Given the description of an element on the screen output the (x, y) to click on. 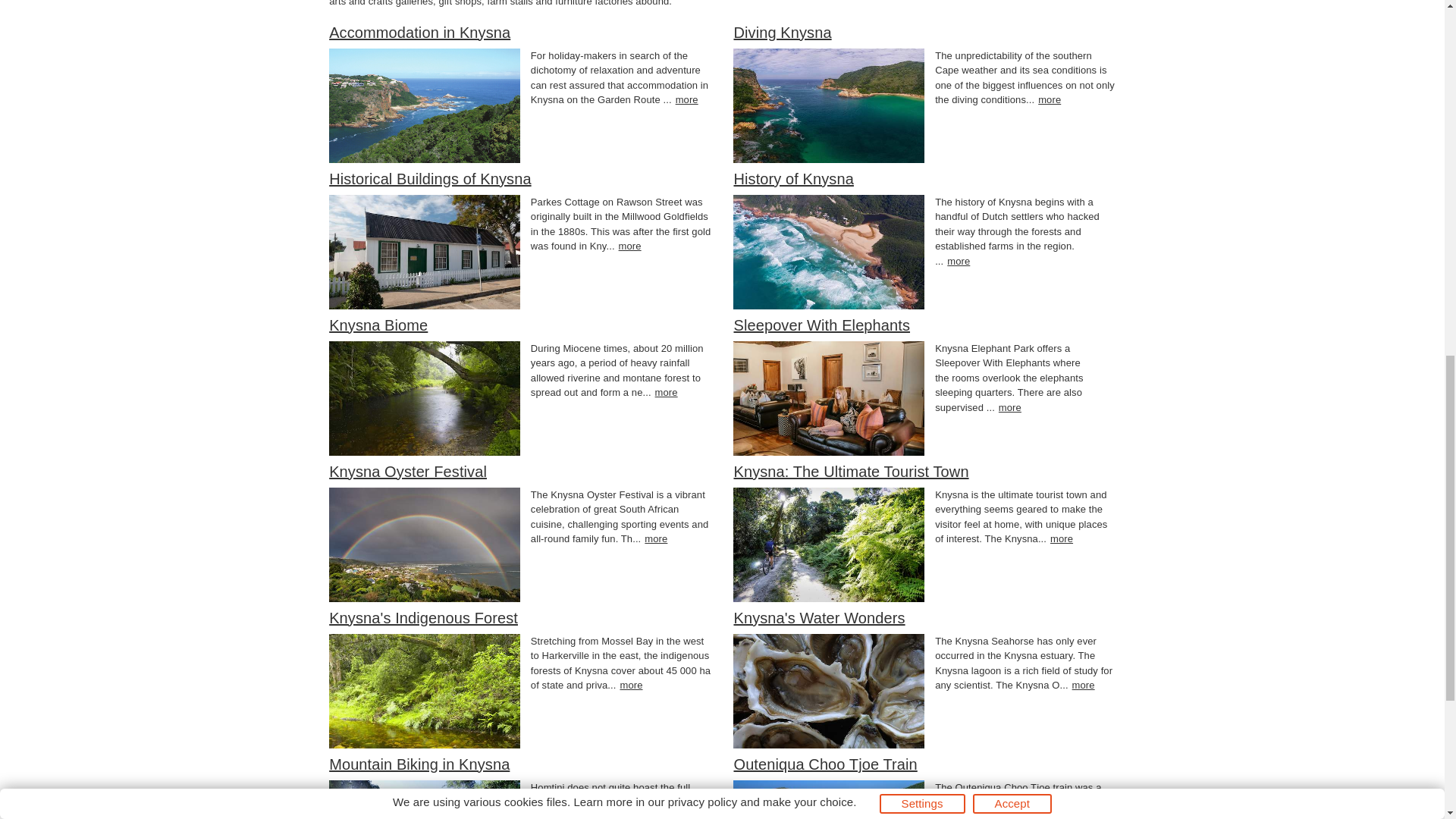
History of Knysna (793, 178)
more (1061, 538)
more (1049, 99)
more (1010, 407)
Knysna: The Ultimate Tourist Town (850, 471)
more (655, 538)
Knysna Oyster Festival (407, 471)
Mountain Biking in Knysna (419, 764)
more (666, 392)
Knysna's Indigenous Forest (423, 617)
Accommodation in Knysna (420, 32)
Outeniqua Choo Tjoe Train (825, 764)
Knysna's Water Wonders (818, 617)
more (630, 245)
more (1082, 685)
